Given the description of an element on the screen output the (x, y) to click on. 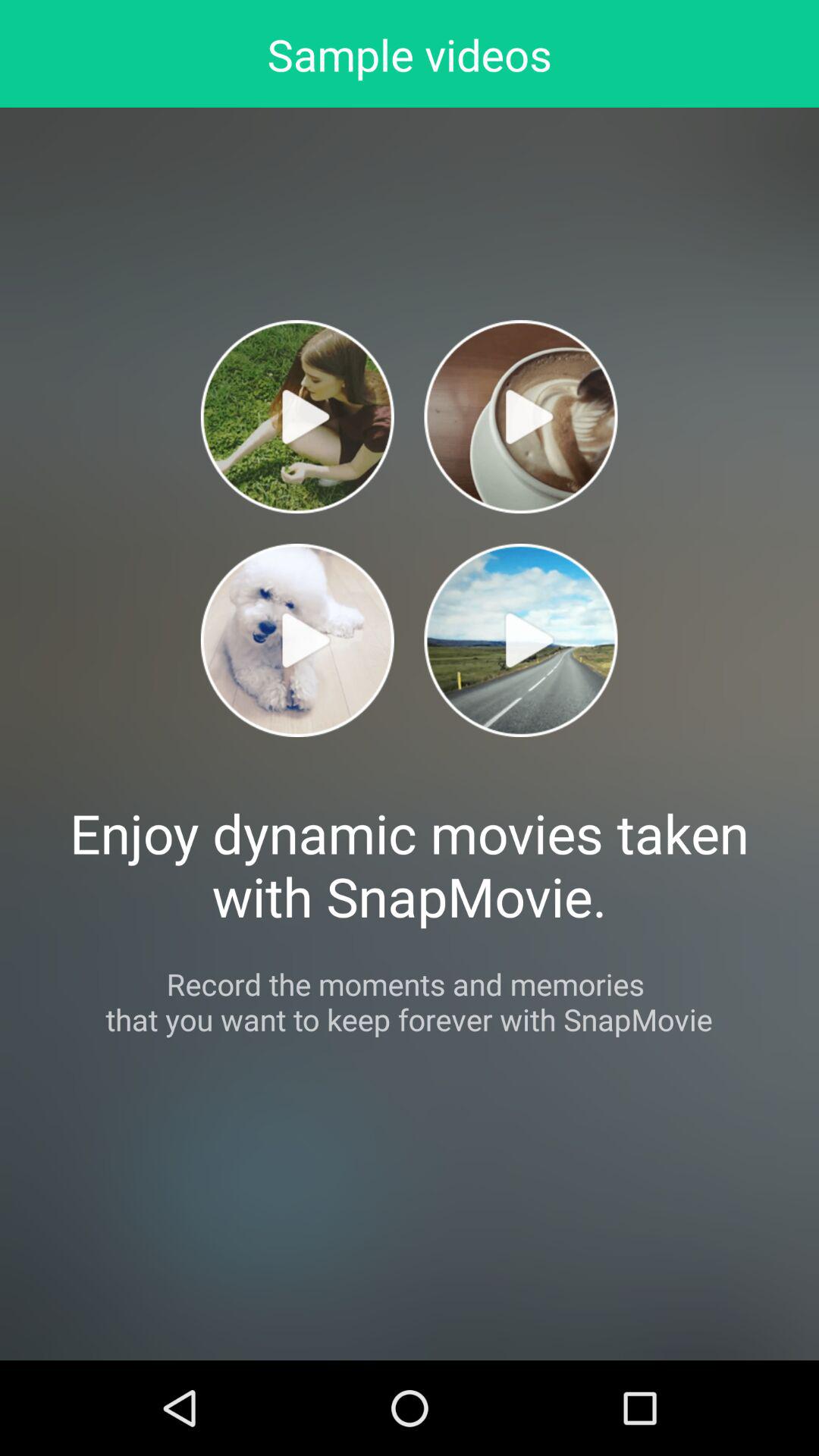
tap to play (520, 416)
